Given the description of an element on the screen output the (x, y) to click on. 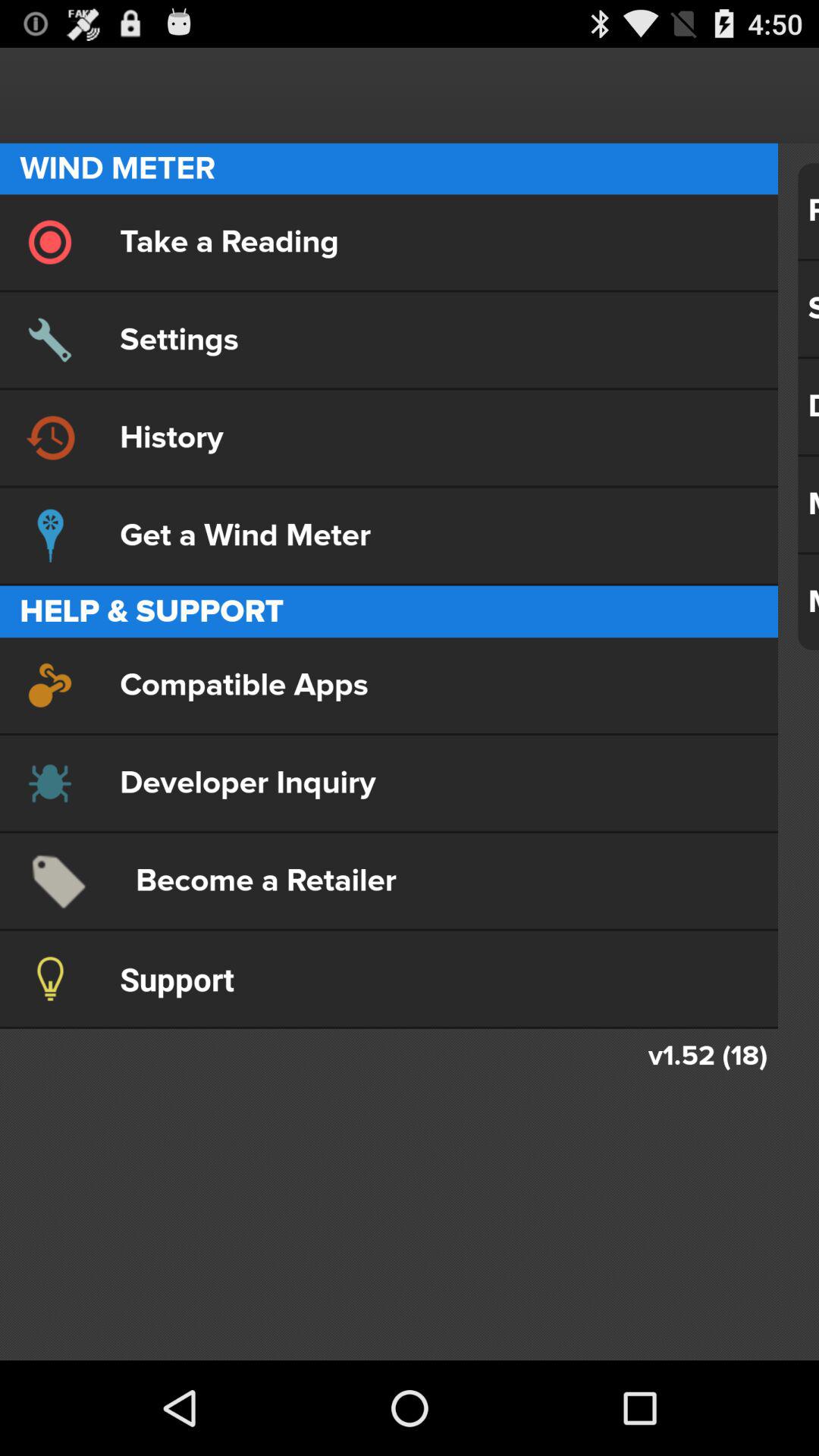
turn off the get a wind item (389, 535)
